Given the description of an element on the screen output the (x, y) to click on. 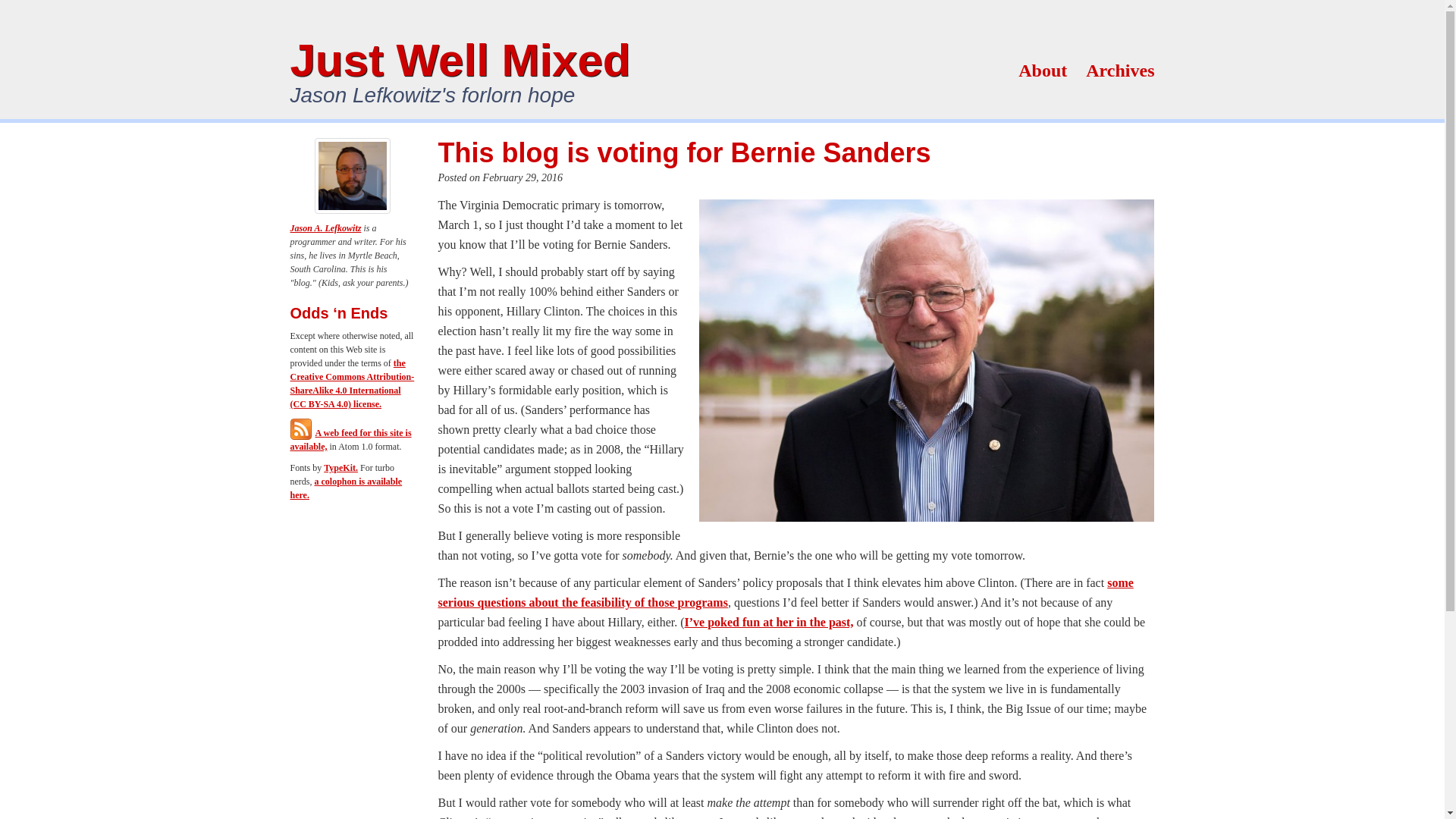
TypeKit. (340, 467)
A web feed for this site is available, (349, 439)
About (1042, 70)
Archives (1120, 70)
Just Well Mixed (459, 60)
Jason A. Lefkowitz (325, 227)
a colophon is available here. (345, 487)
